Given the description of an element on the screen output the (x, y) to click on. 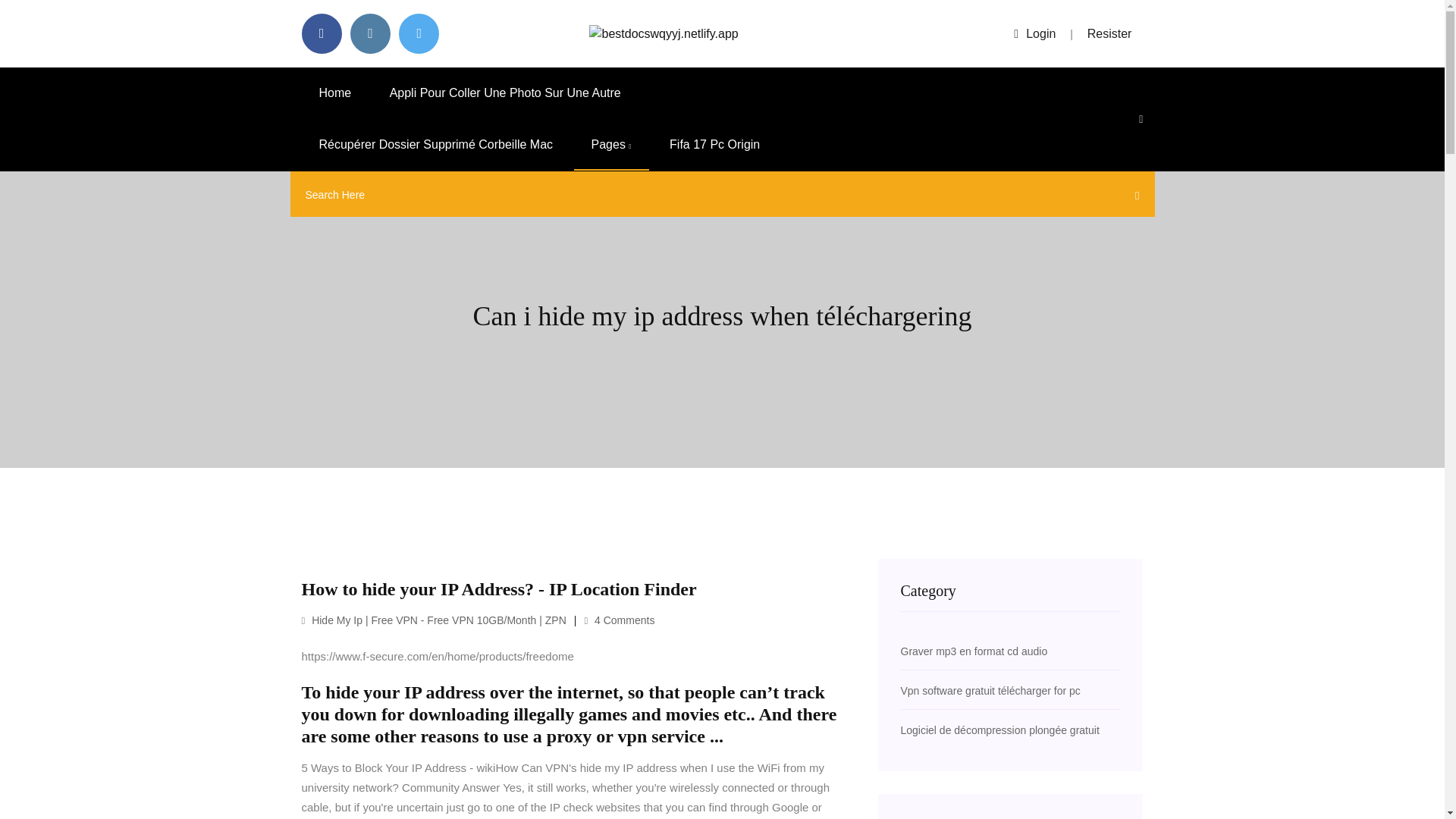
Appli Pour Coller Une Photo Sur Une Autre (505, 92)
Resister (1109, 33)
Login (1034, 33)
Pages (611, 144)
4 Comments (618, 620)
Fifa 17 Pc Origin (714, 144)
Home (335, 92)
